Given the description of an element on the screen output the (x, y) to click on. 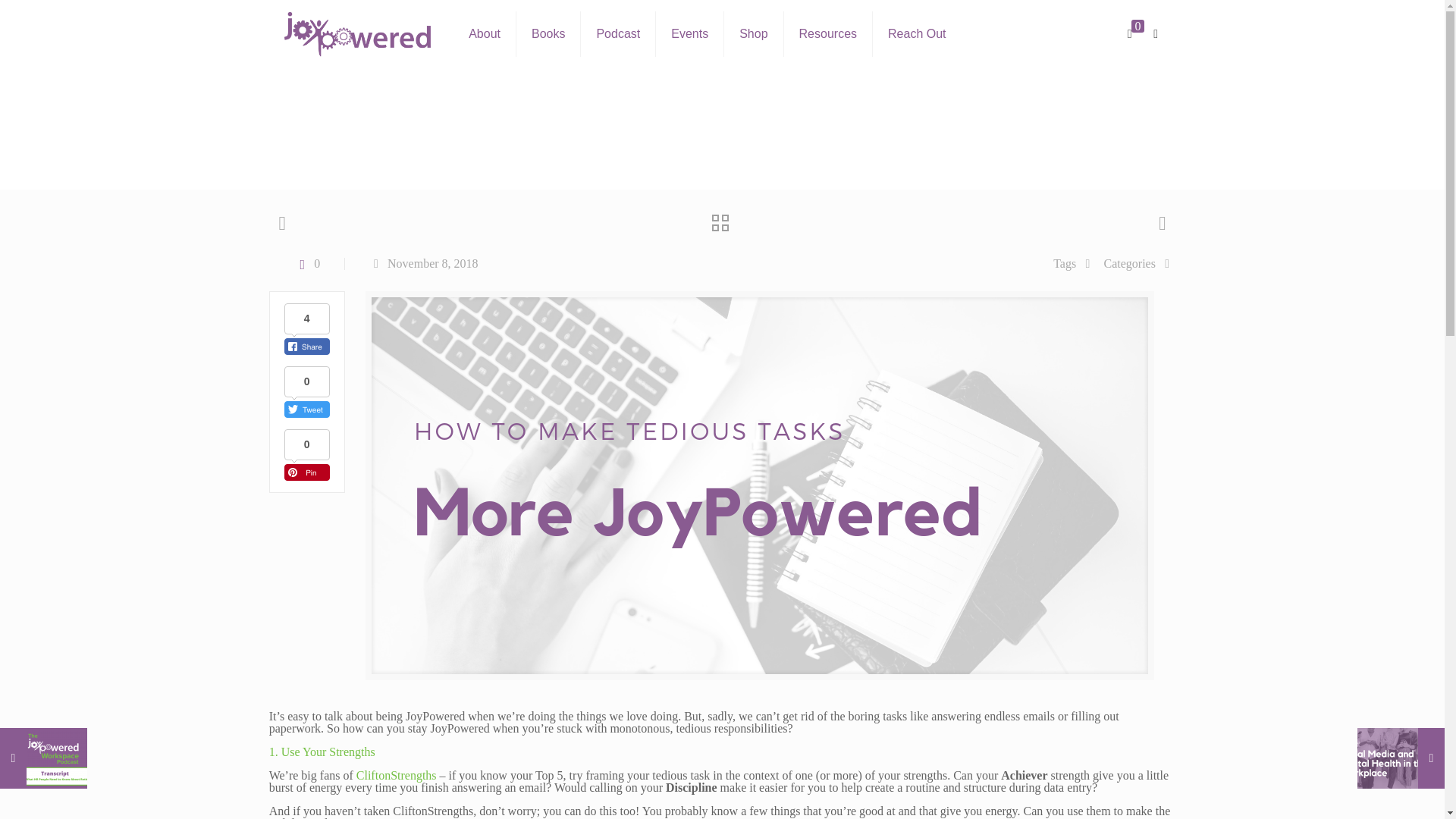
Resources (828, 33)
CliftonStrengths (396, 775)
Podcast (618, 33)
Events (689, 33)
About (484, 33)
0 (1136, 33)
0 (306, 263)
Books (548, 33)
Reach Out (916, 33)
